Given the description of an element on the screen output the (x, y) to click on. 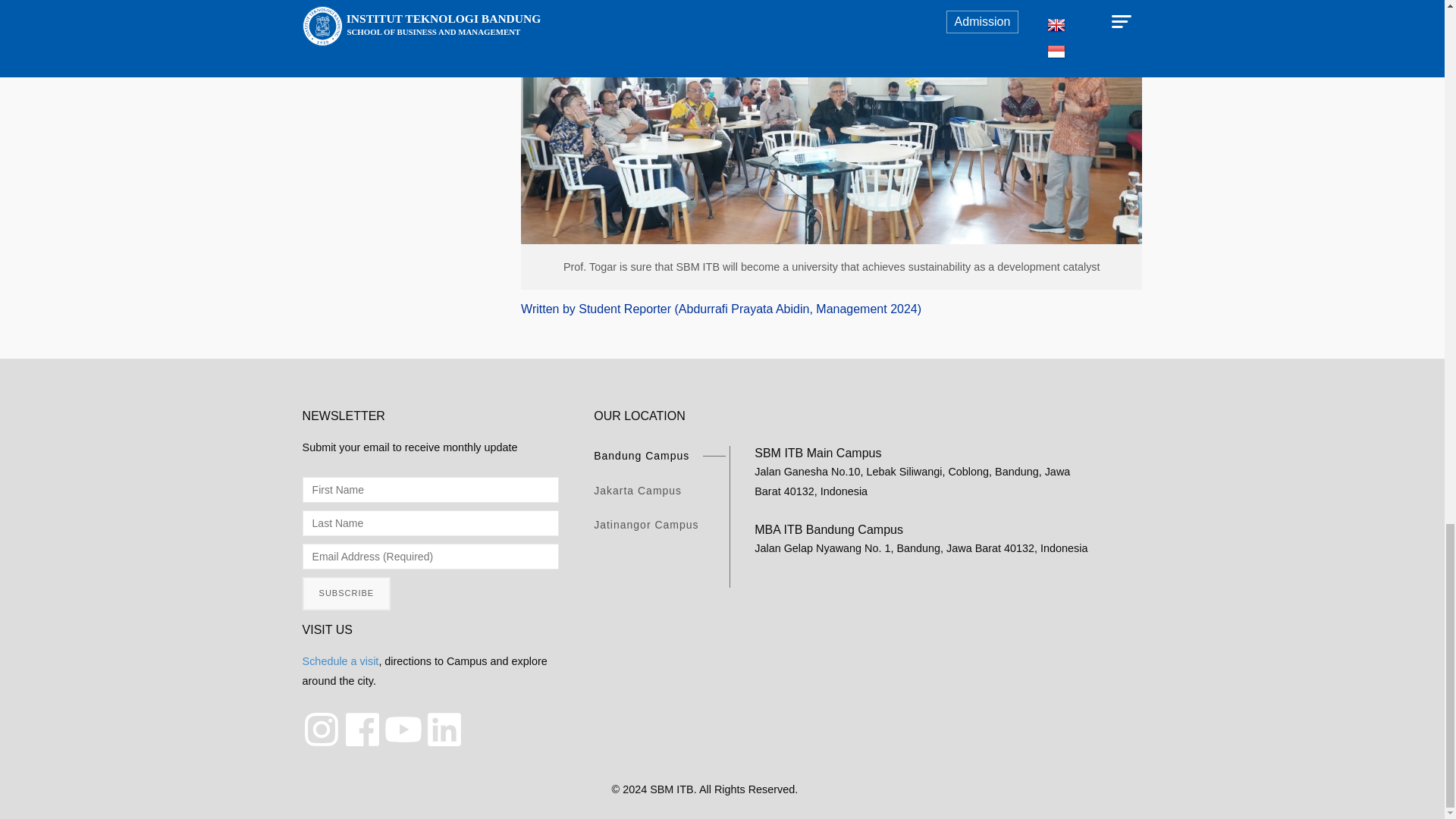
Schedule a visit (340, 661)
Subscribe (346, 593)
Subscribe (346, 593)
